Given the description of an element on the screen output the (x, y) to click on. 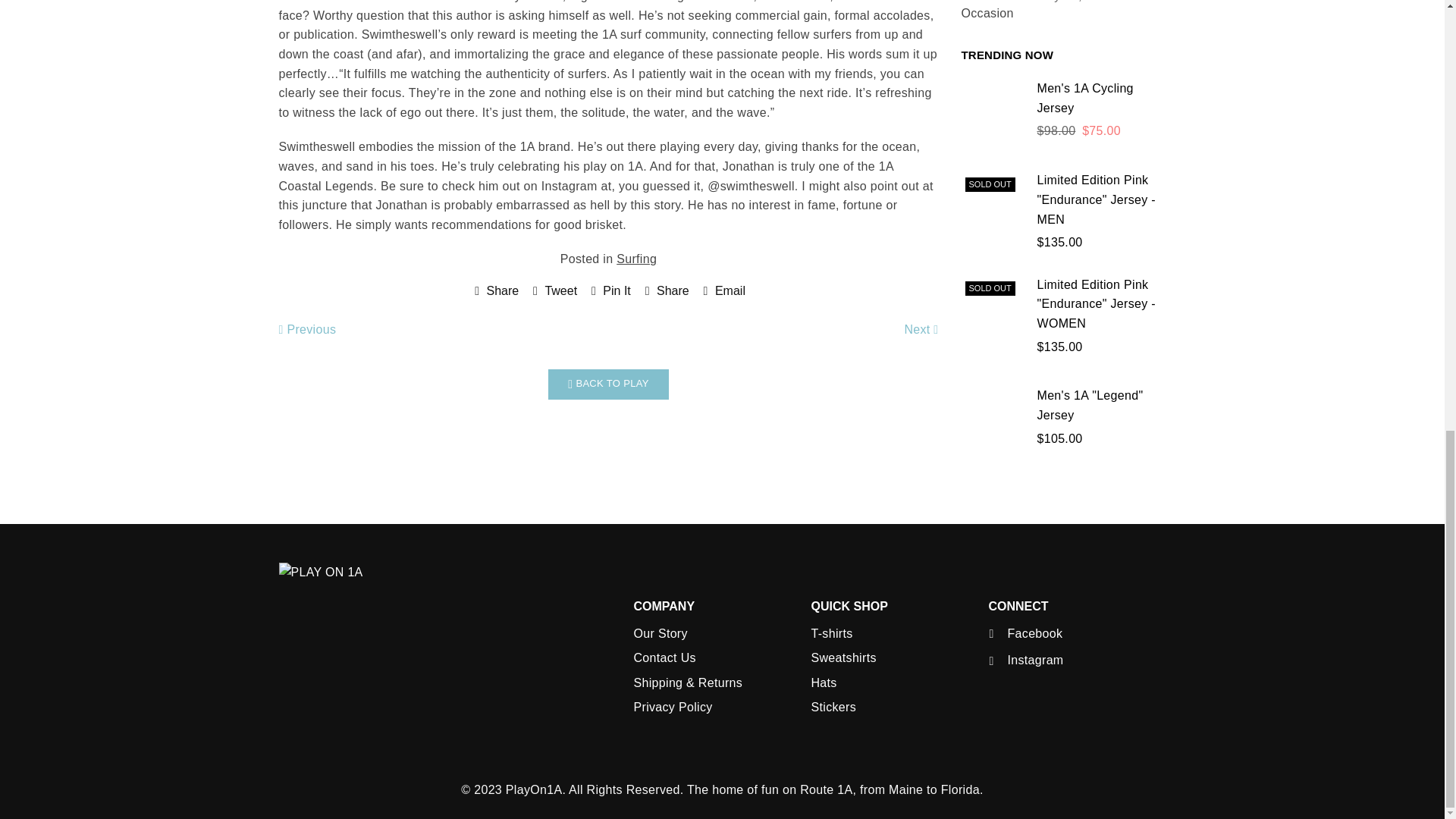
Share by Email (722, 290)
Tweet on Twitter (552, 290)
Pin on Pinterest (609, 290)
Share on Facebook (494, 290)
Share on Linked In (665, 290)
